Given the description of an element on the screen output the (x, y) to click on. 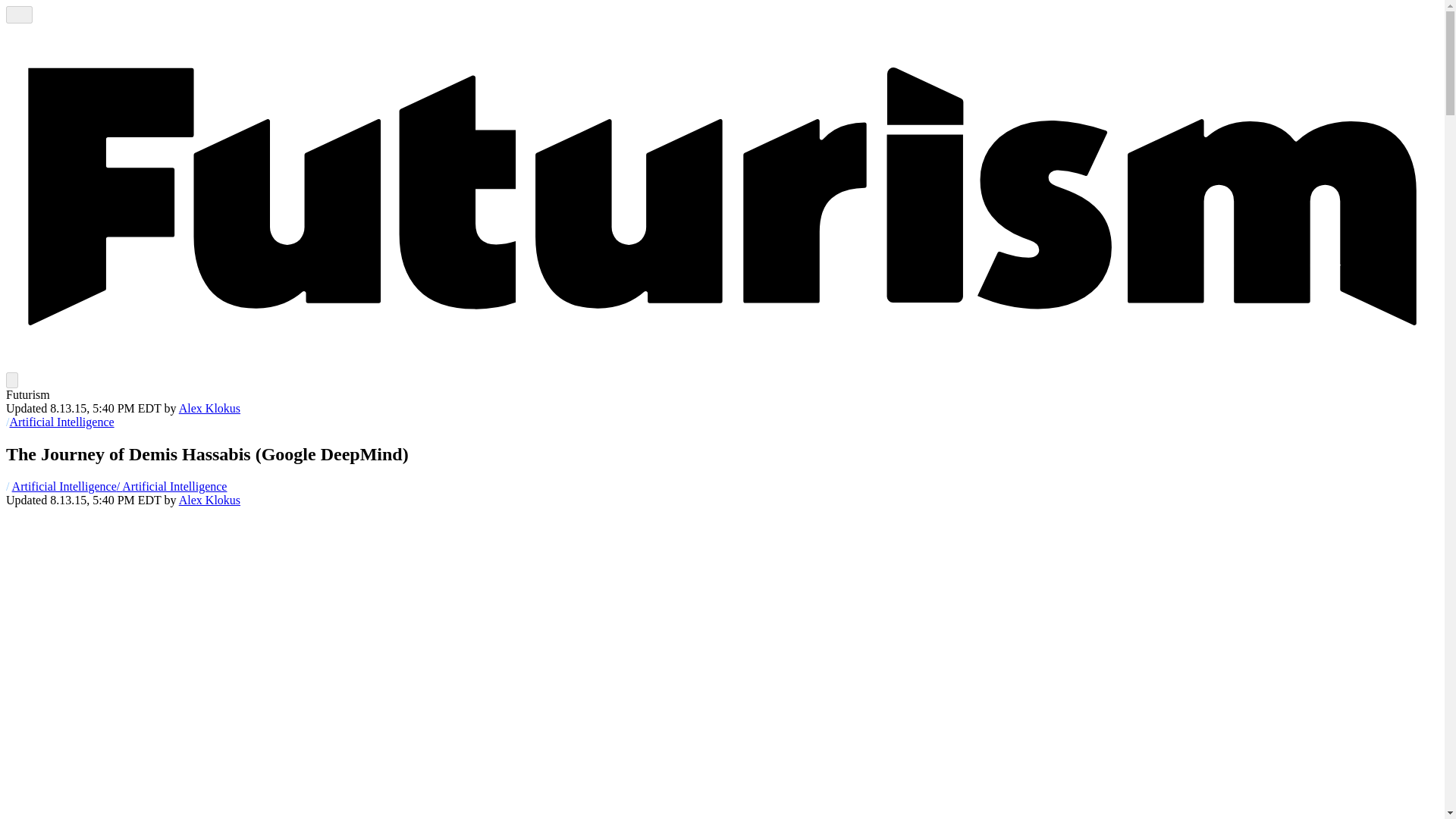
Artificial Intelligence (63, 486)
Alex Klokus (209, 499)
Artificial Intelligence (60, 421)
Alex Klokus (209, 408)
Alex Klokus (209, 408)
Artificial Intelligence (63, 486)
artificial intelligence (171, 486)
Artificial Intelligence (60, 421)
Alex Klokus (209, 499)
